Given the description of an element on the screen output the (x, y) to click on. 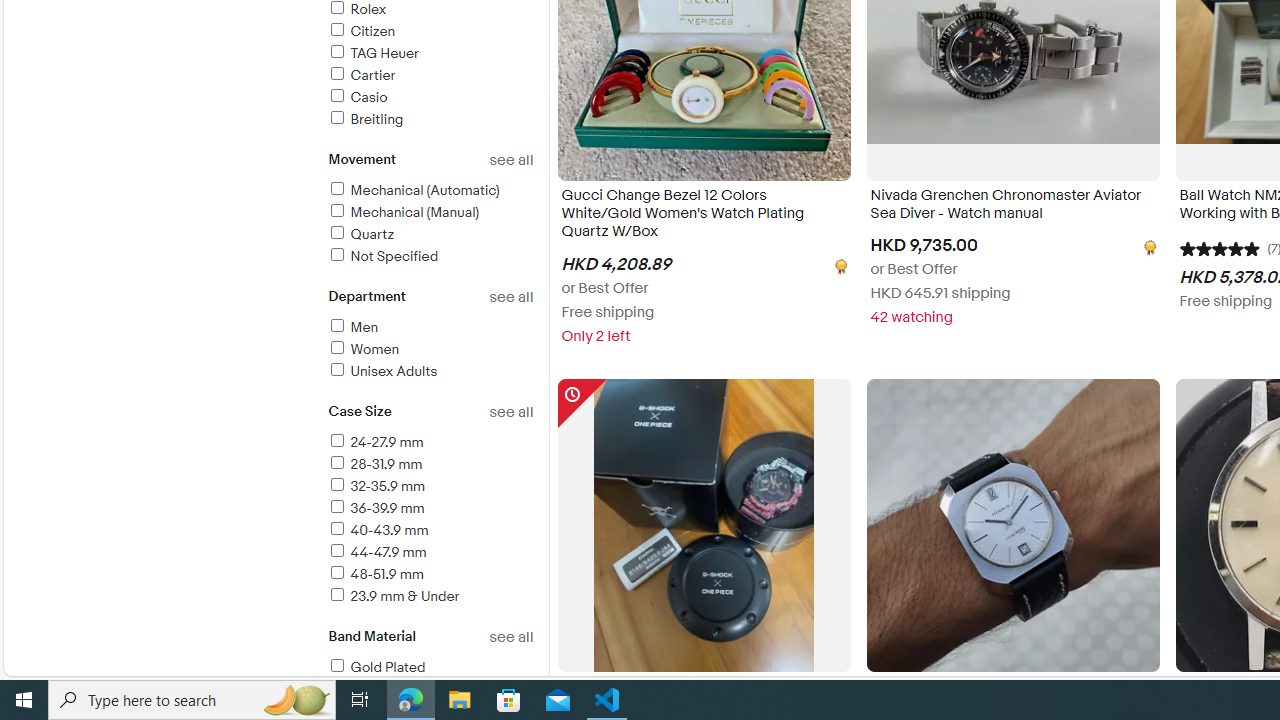
5 out of 5 stars (1218, 247)
[object Undefined] (1147, 246)
